Given the description of an element on the screen output the (x, y) to click on. 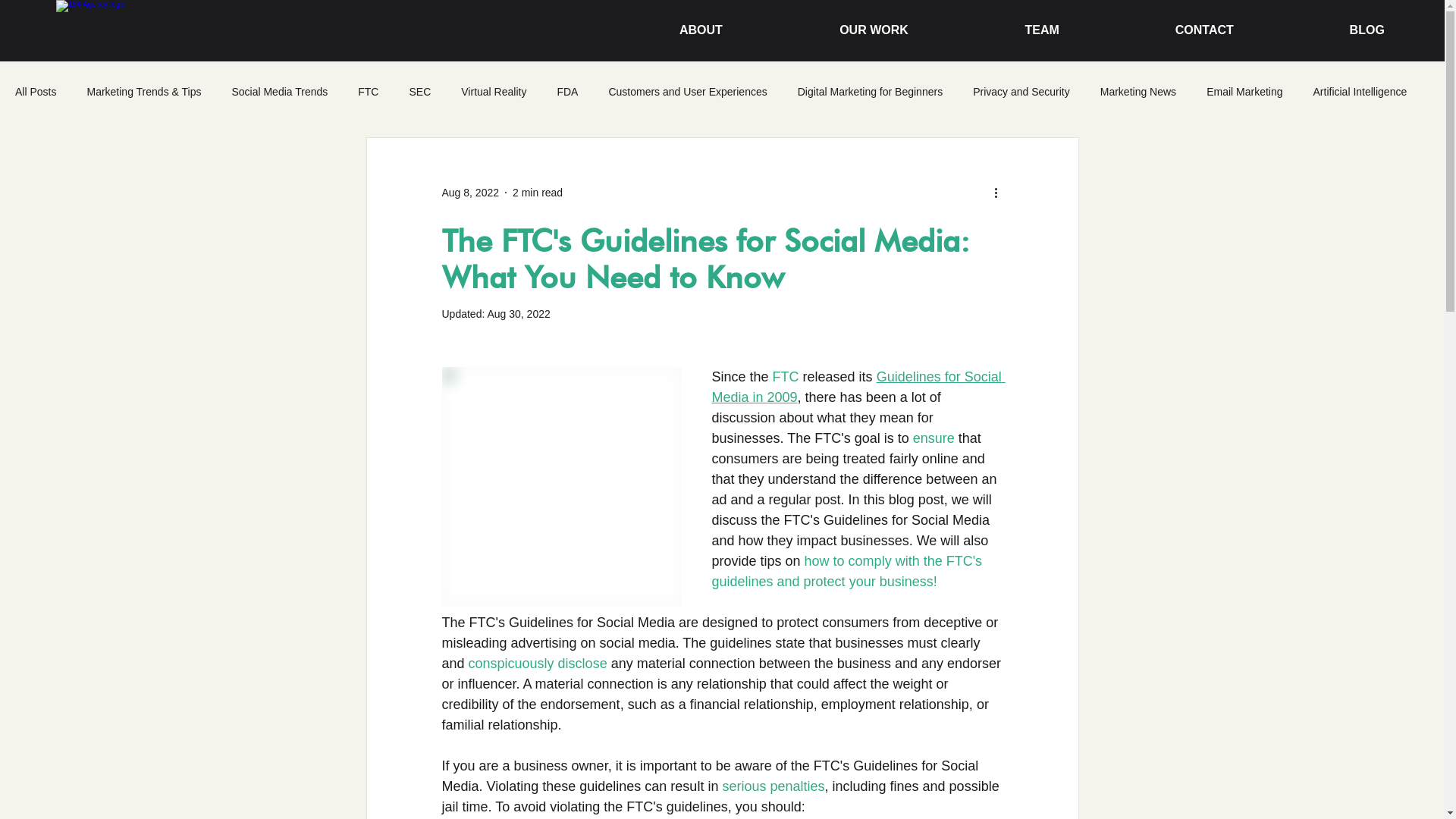
All Posts Element type: text (35, 91)
BLOG Element type: text (1326, 22)
Guidelines for Social Media in 2009 Element type: text (857, 386)
Email Marketing Element type: text (1244, 91)
Virtual Reality Element type: text (493, 91)
Marketing News Element type: text (1138, 91)
Artificial Intelligence Element type: text (1360, 91)
Customers and User Experiences Element type: text (687, 91)
TEAM Element type: text (1000, 22)
FDA Element type: text (566, 91)
Digital Marketing for Beginners Element type: text (869, 91)
FTC Element type: text (367, 91)
SEC Element type: text (419, 91)
Social Media Trends Element type: text (279, 91)
OUR WORK Element type: text (832, 22)
Marketing Trends & Tips Element type: text (143, 91)
Privacy and Security Element type: text (1021, 91)
CONTACT Element type: text (1163, 22)
ABOUT Element type: text (660, 22)
